Given the description of an element on the screen output the (x, y) to click on. 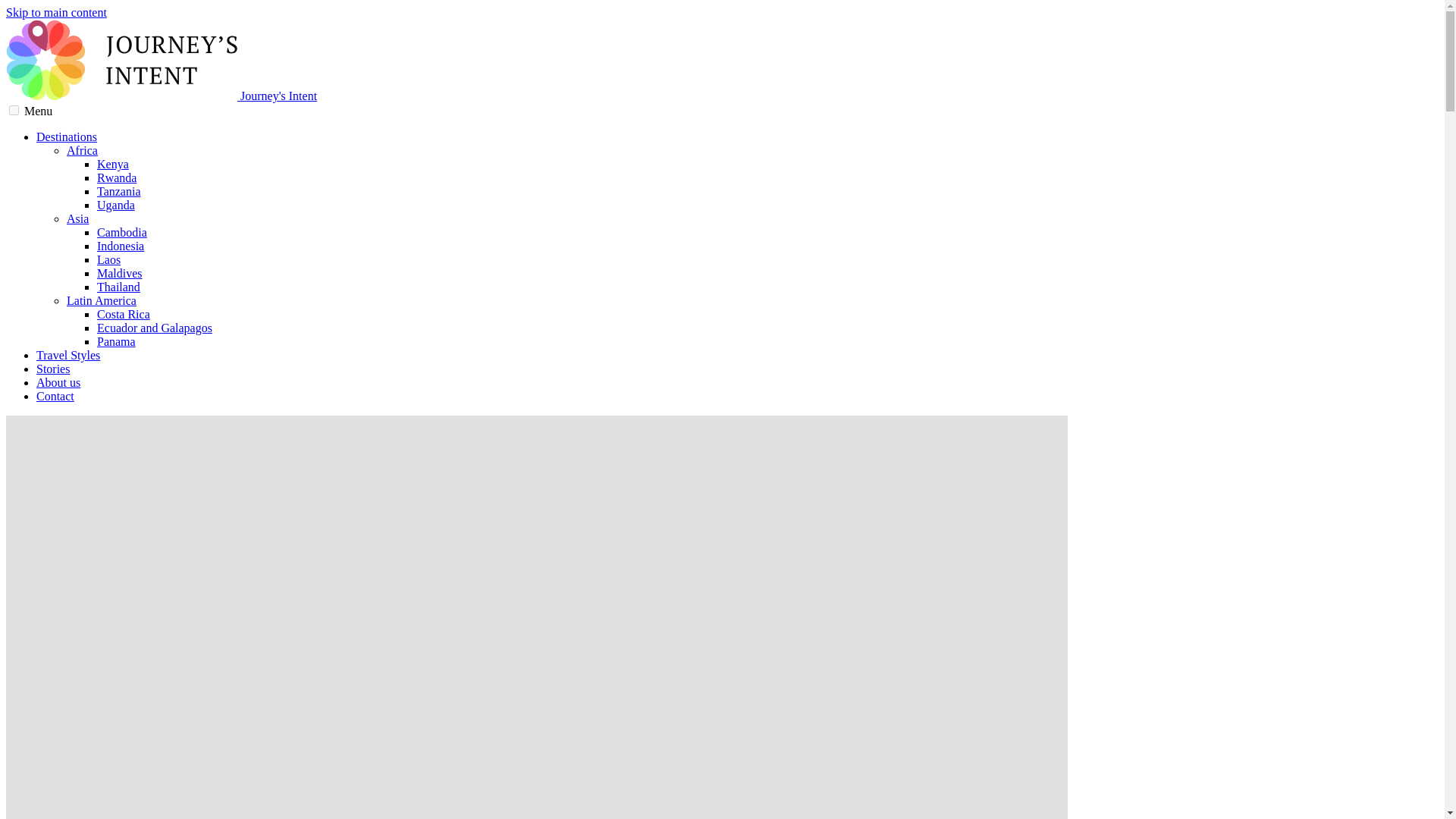
Uganda (116, 205)
Panama (116, 341)
Home (161, 95)
on (13, 110)
Journey's Intent (161, 95)
Latin America (101, 300)
Kenya (113, 164)
Destinations (66, 136)
Maldives (119, 273)
Travel Styles (68, 354)
Cambodia (122, 232)
Skip to main content (55, 11)
Stories (52, 368)
Laos (108, 259)
Asia (77, 218)
